Given the description of an element on the screen output the (x, y) to click on. 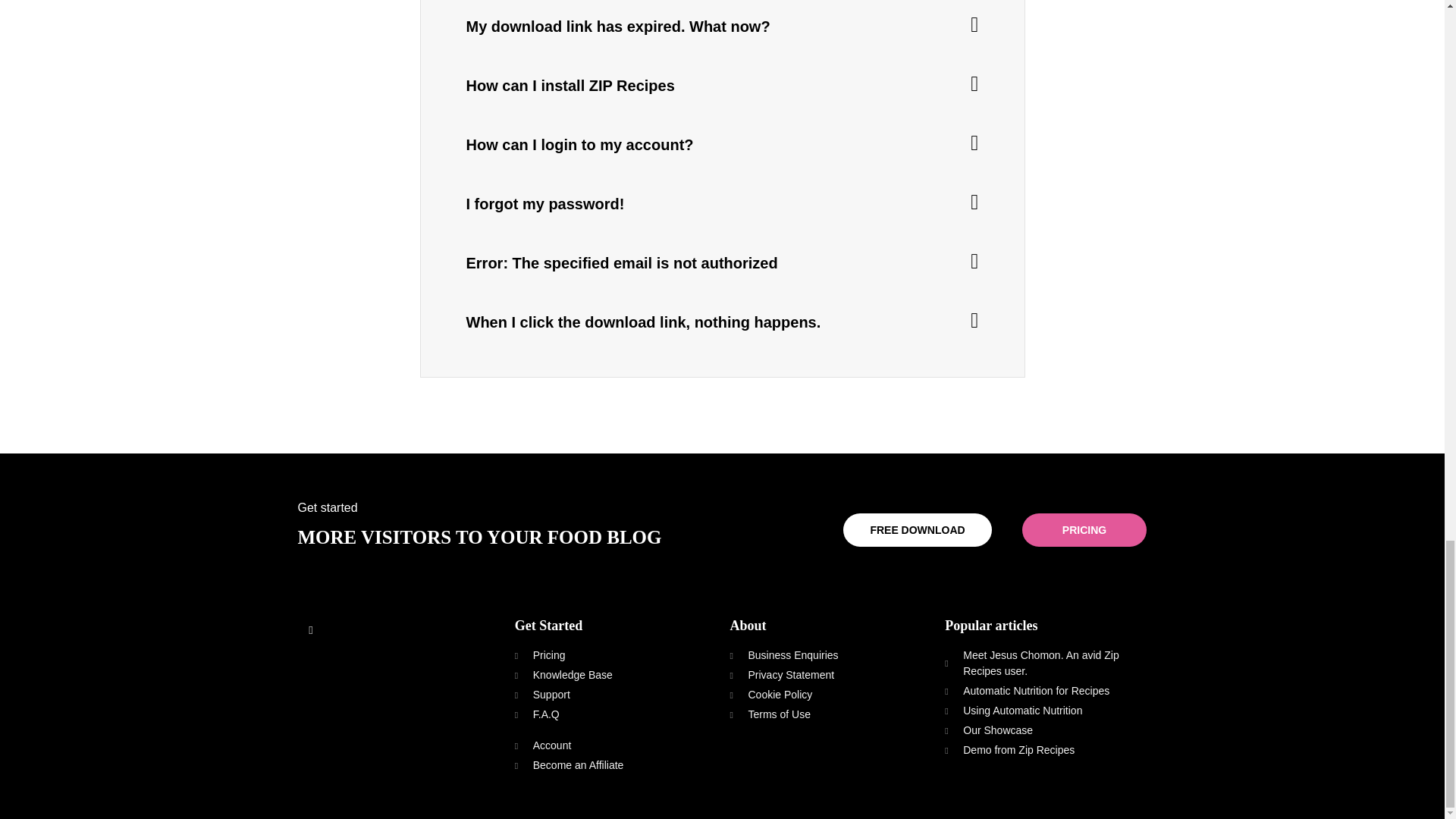
How can I install ZIP Recipes (569, 85)
My download link has expired. What now? (617, 26)
